Given the description of an element on the screen output the (x, y) to click on. 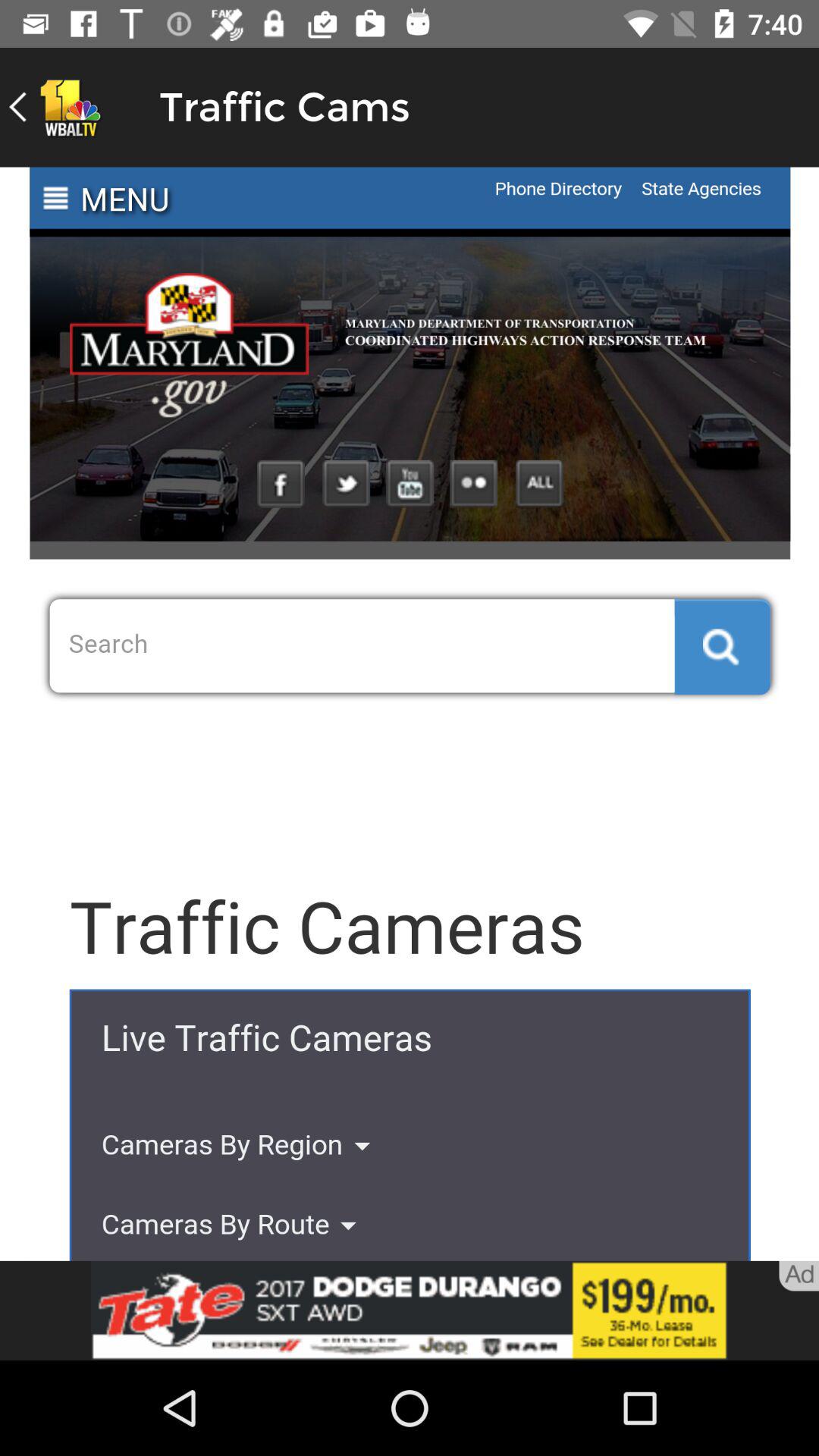
select advertisement (409, 1310)
